Given the description of an element on the screen output the (x, y) to click on. 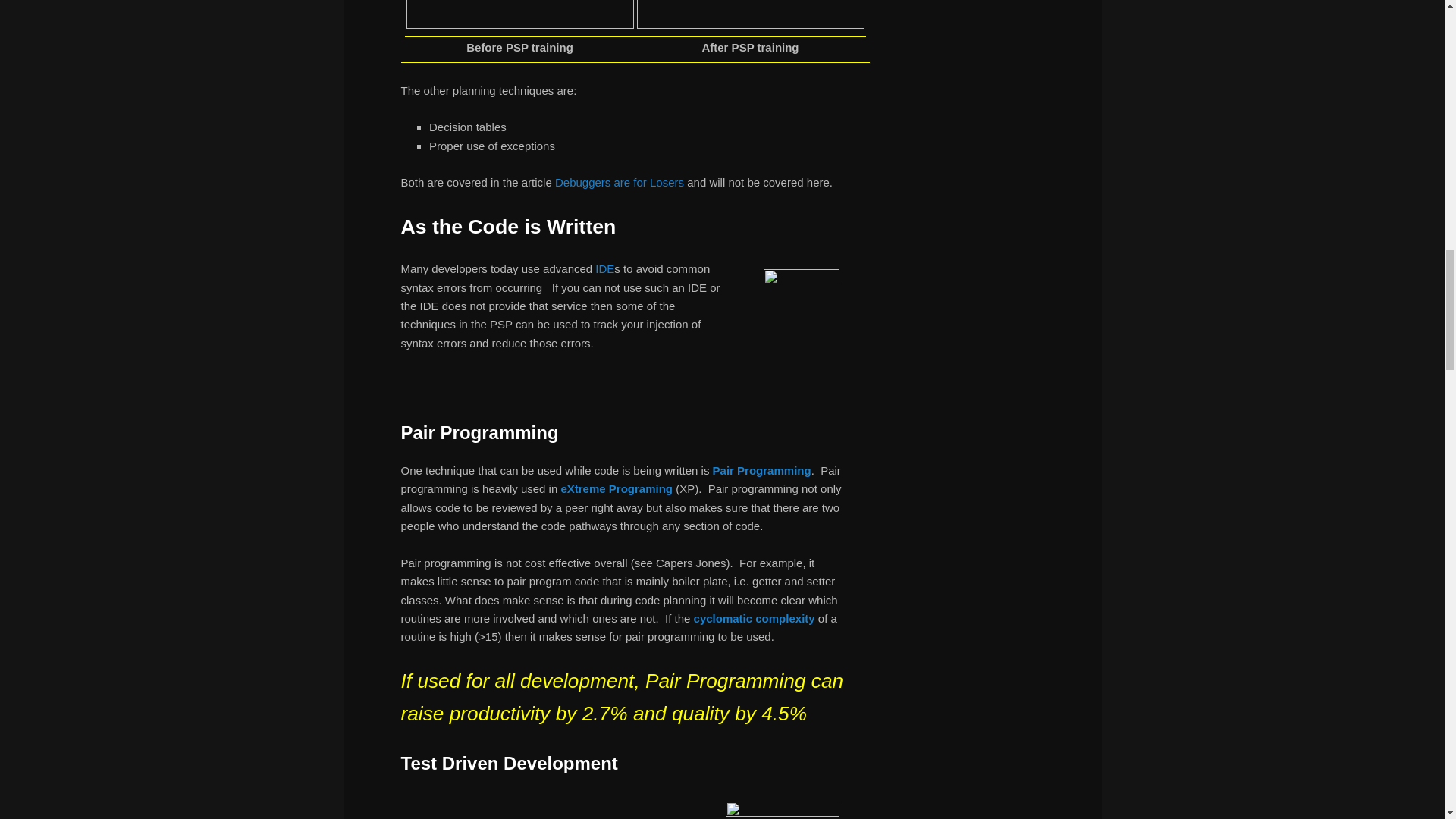
Debuggers are for Losers (619, 182)
IDE (604, 268)
eXtreme Programing (616, 488)
Pair Programming (761, 470)
cyclomatic complexity (754, 617)
